Given the description of an element on the screen output the (x, y) to click on. 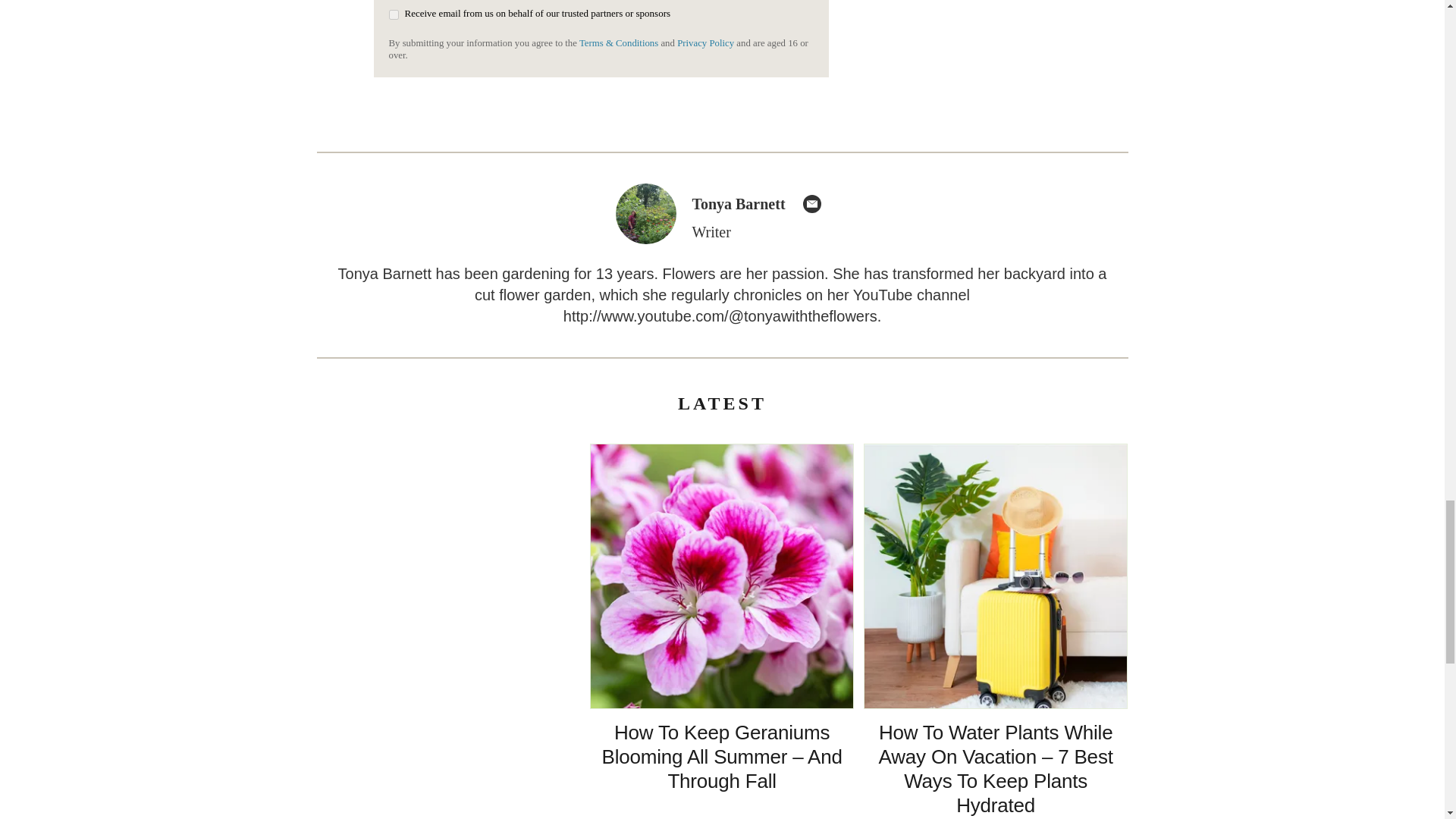
on (392, 14)
